Given the description of an element on the screen output the (x, y) to click on. 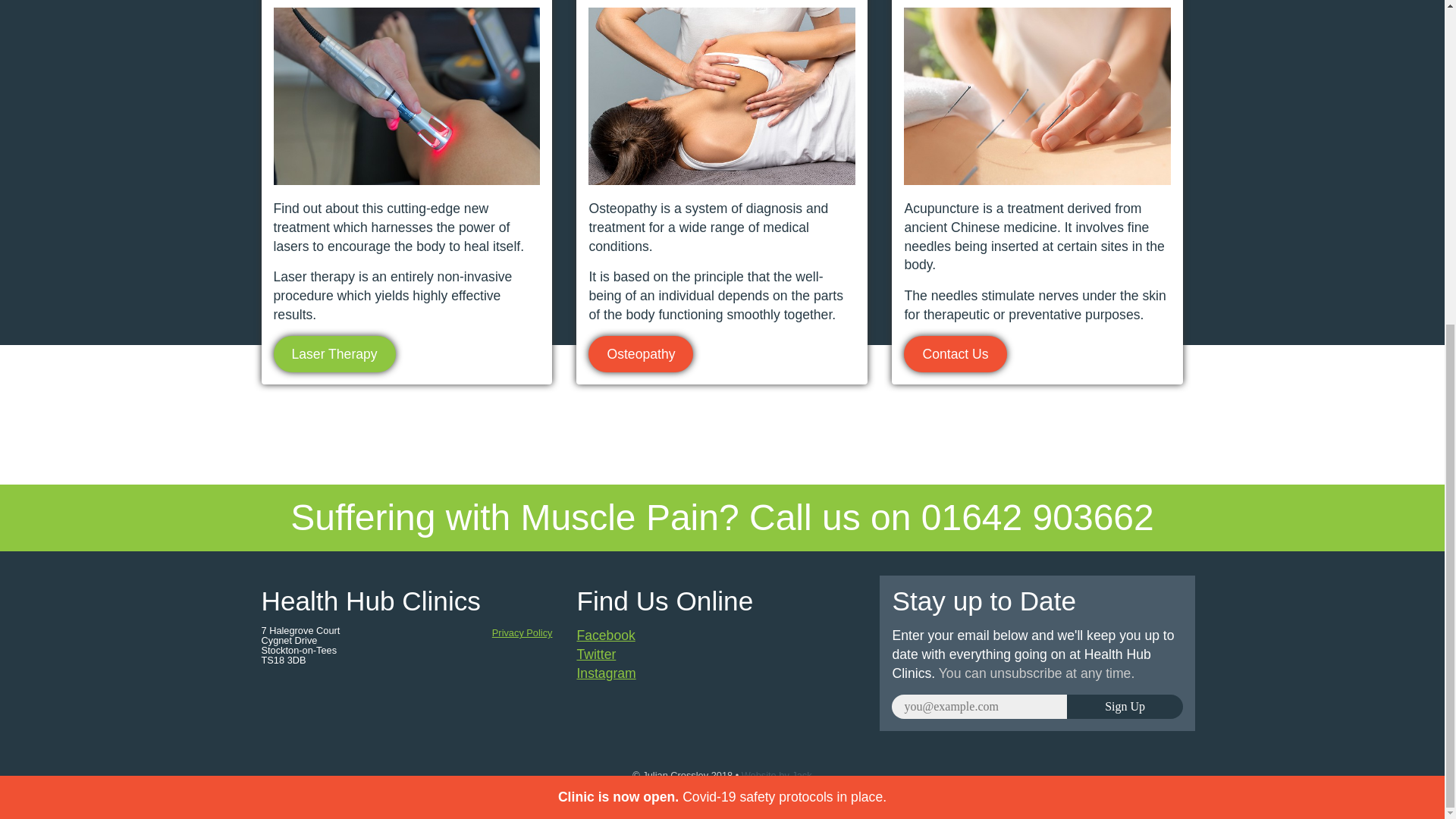
Instagram (605, 672)
Osteopathy (640, 353)
Laser Therapy (333, 353)
Twitter (595, 654)
Website by Jack (776, 775)
Website Design UK (776, 775)
Sign Up (1125, 706)
Facebook (605, 635)
Sign Up (1125, 706)
Privacy Policy (522, 632)
Contact Us (955, 353)
